Given the description of an element on the screen output the (x, y) to click on. 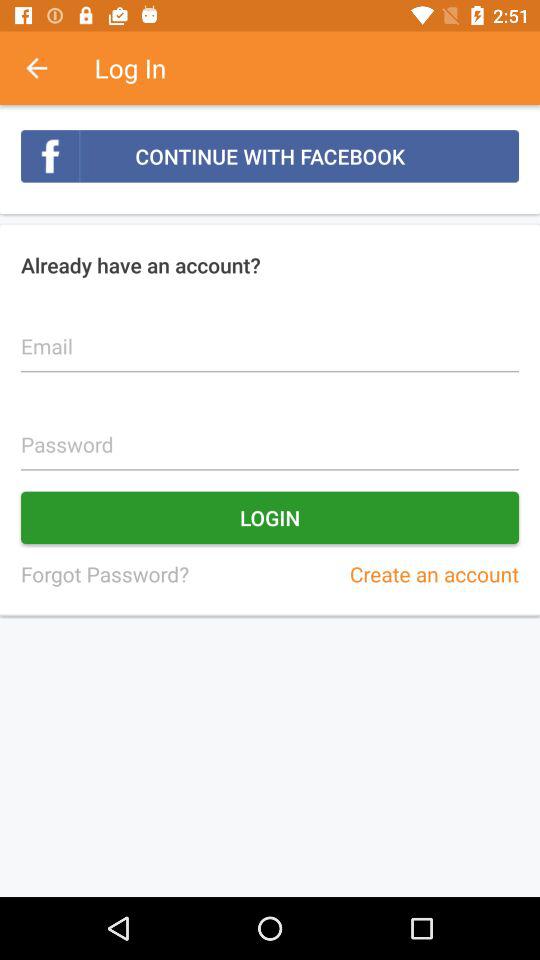
select the item on the left (104, 573)
